Given the description of an element on the screen output the (x, y) to click on. 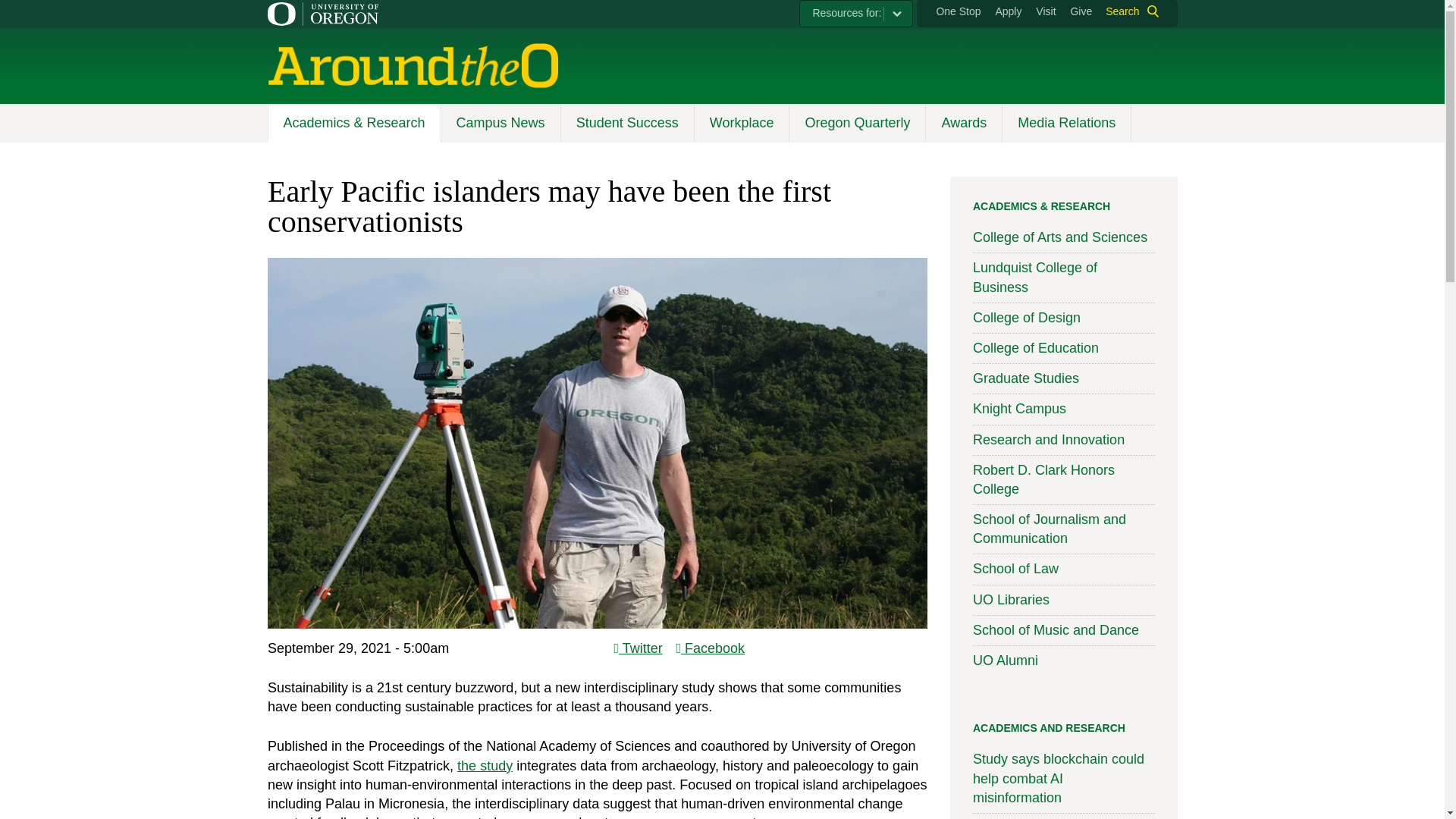
Search (1128, 11)
Apply (1008, 10)
One Stop (957, 10)
Give (1081, 10)
Around the OHome (324, 119)
Around the O home (411, 65)
Resources for: (855, 13)
Visit (1045, 10)
